Given the description of an element on the screen output the (x, y) to click on. 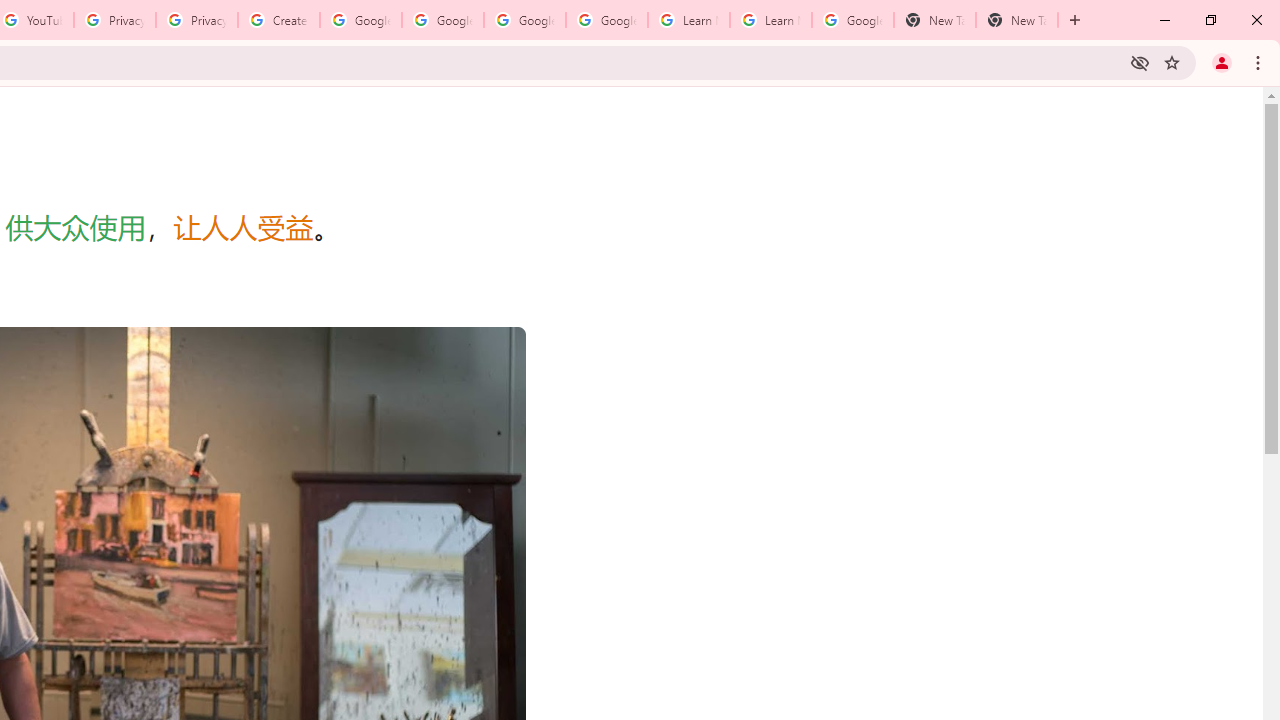
New Tab (1016, 20)
Google Account (852, 20)
Google Account Help (442, 20)
Google Account Help (360, 20)
Google Account Help (606, 20)
Create your Google Account (278, 20)
